Given the description of an element on the screen output the (x, y) to click on. 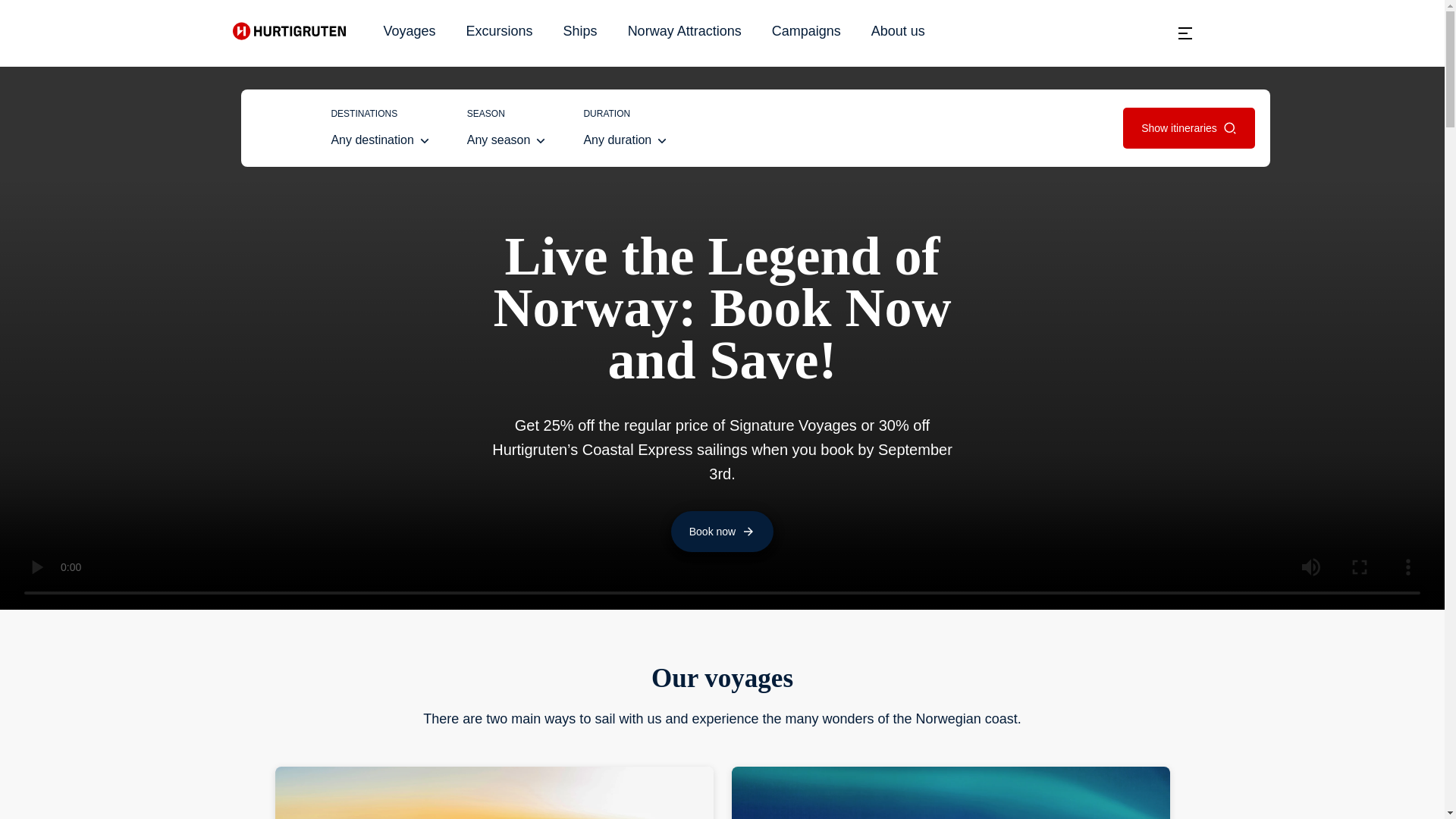
Voyages (380, 127)
Book now (409, 30)
Norway Attractions (722, 531)
Ships (684, 30)
About us (625, 127)
Show itineraries (579, 30)
Hurtigruten (897, 30)
Open menu (1188, 127)
Excursions (288, 35)
Campaigns (1184, 33)
